Given the description of an element on the screen output the (x, y) to click on. 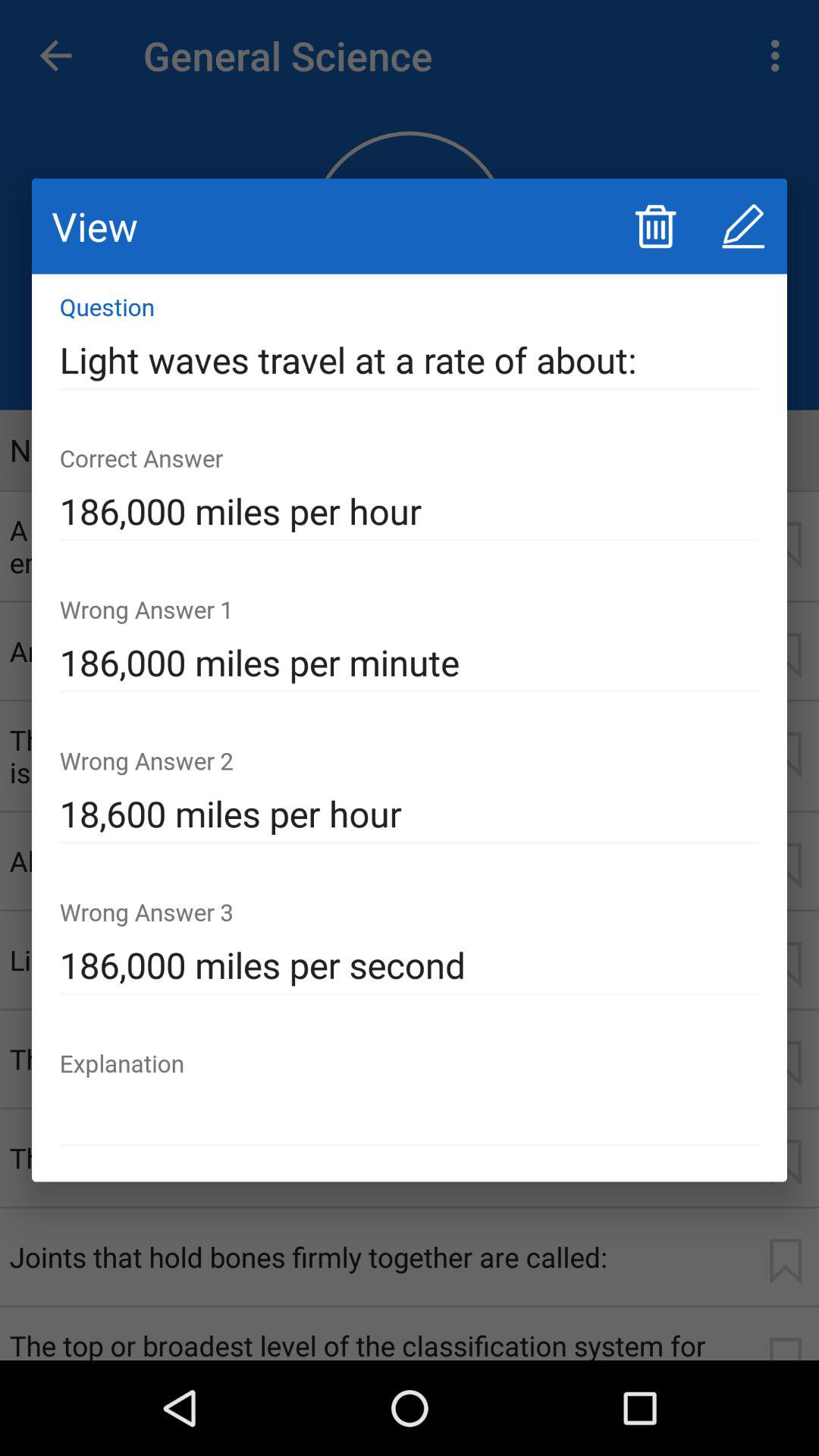
launch light waves travel icon (409, 360)
